Given the description of an element on the screen output the (x, y) to click on. 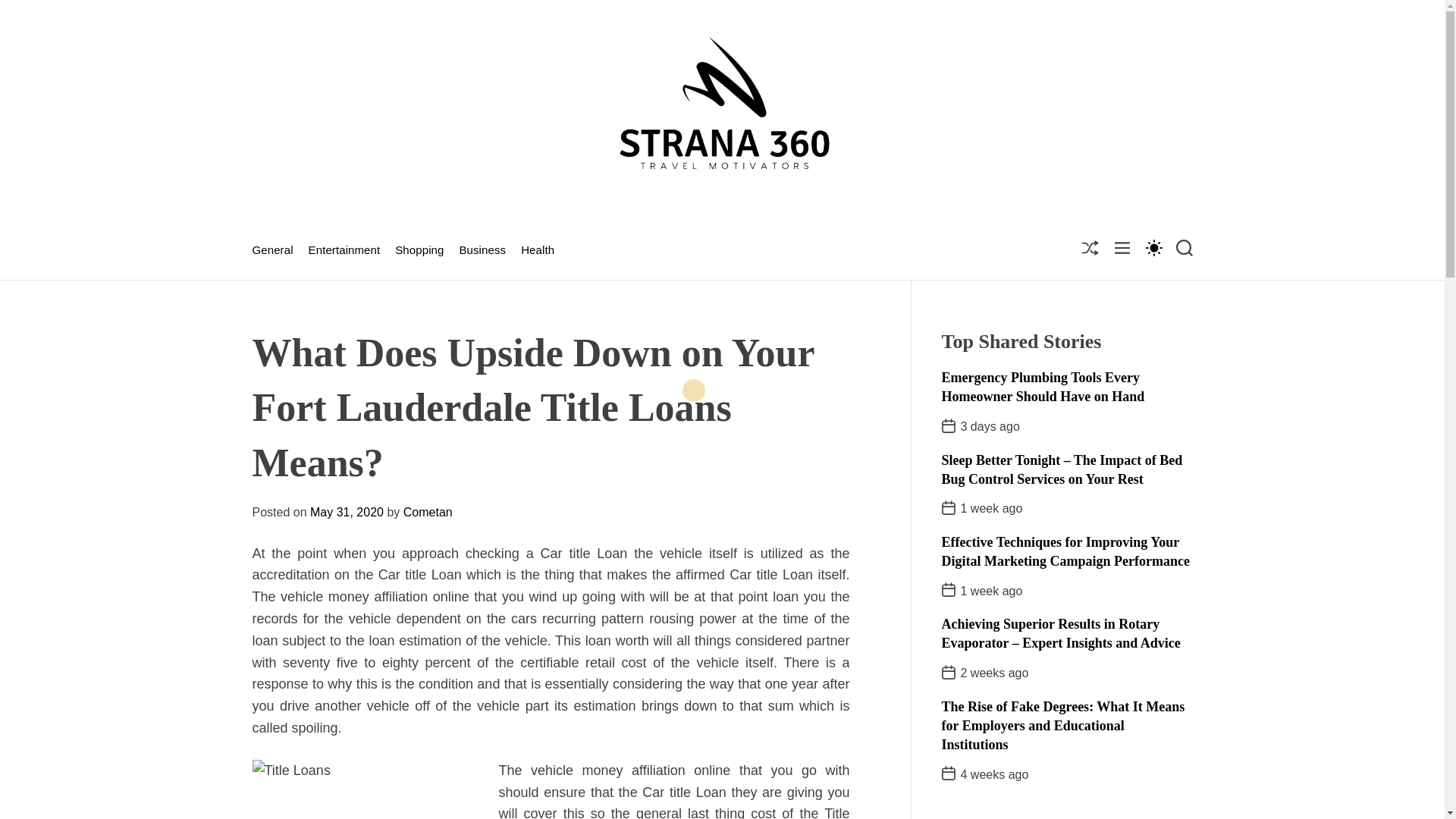
Emergency Plumbing Tools Every Homeowner Should Have on Hand (1043, 387)
Business (481, 249)
Entertainment (344, 249)
Cometan (427, 512)
SWITCH COLOR MODE (1152, 246)
Shopping (419, 249)
Health (537, 249)
General (271, 249)
May 31, 2020 (347, 512)
